Given the description of an element on the screen output the (x, y) to click on. 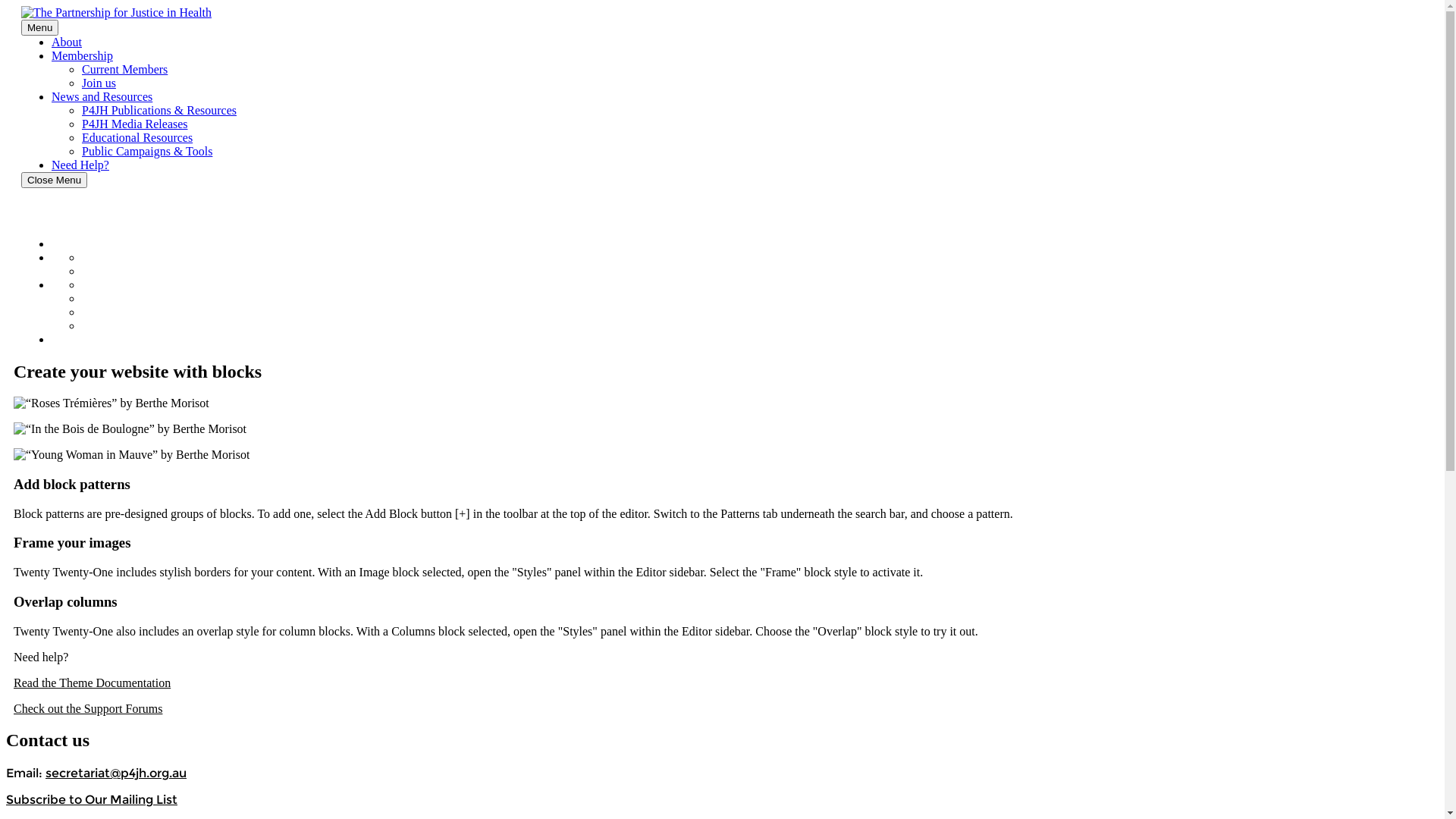
secretariat@p4jh.org.au Element type: text (115, 772)
Membership Element type: text (88, 259)
Public Campaigns & Tools Element type: text (146, 150)
About Element type: text (69, 245)
News and Resources Element type: text (111, 286)
P4JH Publications & Resources Element type: text (158, 109)
Menu Element type: text (39, 27)
Public Campaigns & Tools Element type: text (159, 327)
News and Resources Element type: text (101, 96)
Check out the Support Forums Element type: text (87, 708)
The Partnership for Justice in Health Element type: text (110, 26)
Current Members Element type: text (133, 259)
Subscribe to Our Mailing List Element type: text (91, 799)
P4JH Media Releases Element type: text (134, 123)
Read the Theme Documentation Element type: text (91, 683)
Membership Element type: text (81, 55)
Need Help? Element type: text (80, 164)
About Element type: text (66, 41)
Educational Resources Element type: text (147, 313)
P4JH Publications & Resources Element type: text (174, 286)
Need Help? Element type: text (85, 340)
Skip to content Element type: text (5, 5)
P4JH Media Releases Element type: text (144, 299)
Educational Resources Element type: text (136, 137)
Join us Element type: text (101, 272)
Close Menu Element type: text (54, 180)
Join us Element type: text (98, 82)
Current Members Element type: text (124, 68)
